Given the description of an element on the screen output the (x, y) to click on. 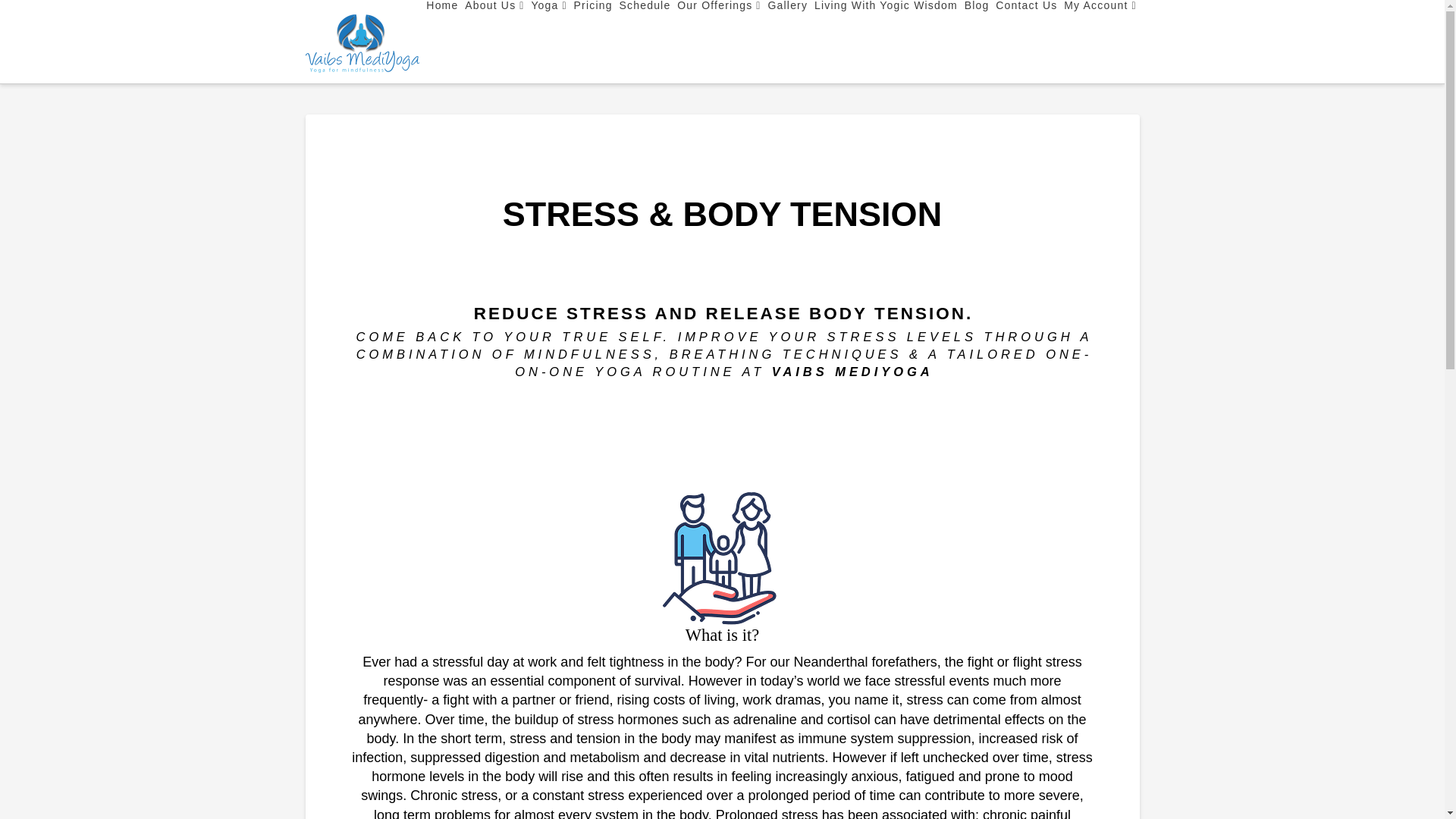
Our Offerings (717, 41)
My Account (1098, 41)
Living With Yogic Wisdom (885, 41)
